Given the description of an element on the screen output the (x, y) to click on. 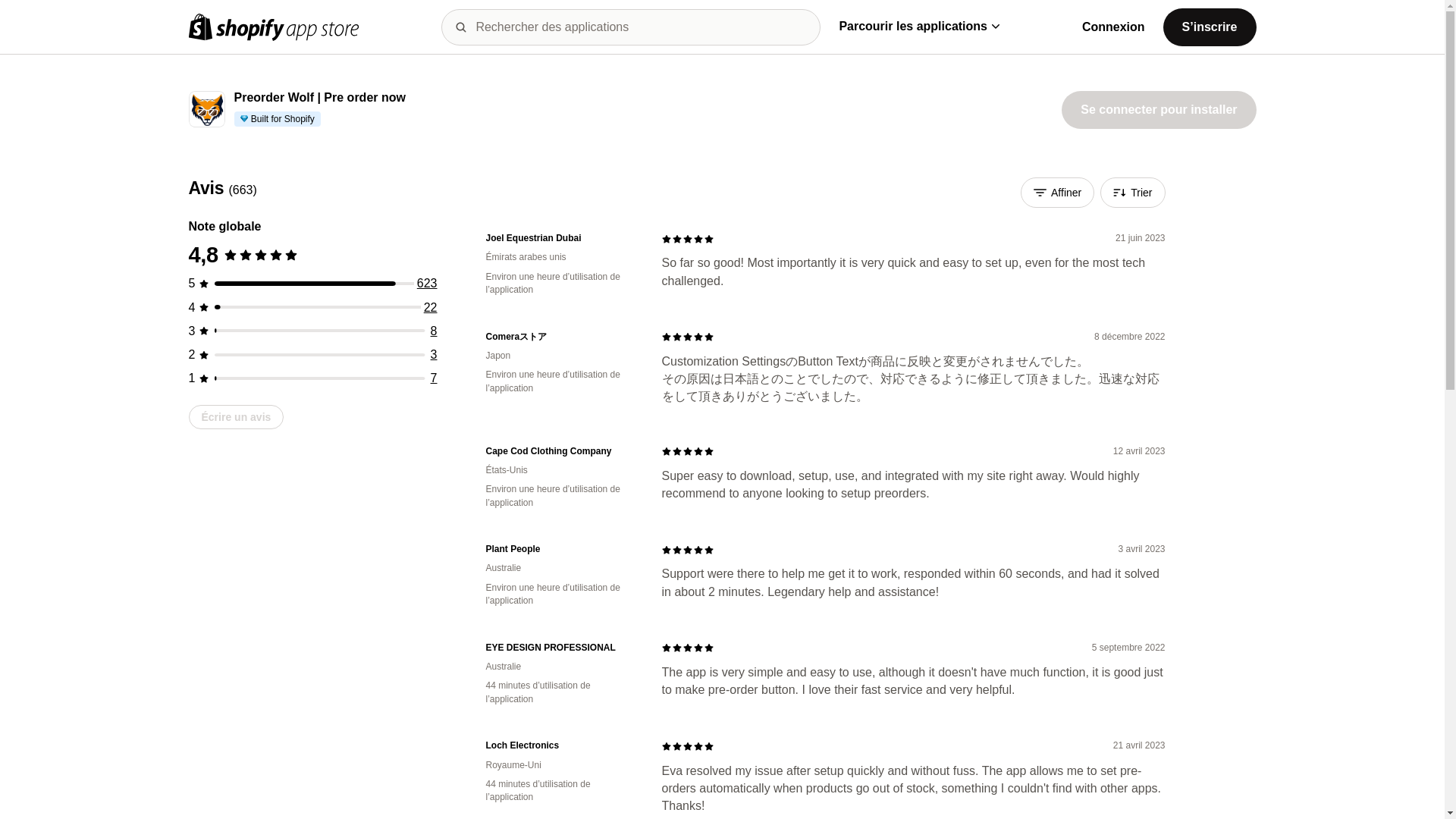
623 (427, 282)
Plant People (560, 549)
Loch Electronics (560, 745)
Joel Equestrian Dubai (560, 237)
Cape Cod Clothing Company (560, 451)
22 (430, 307)
EYE DESIGN PROFESSIONAL (560, 647)
Connexion (1112, 27)
Parcourir les applications (918, 26)
Se connecter pour installer (1158, 109)
